Given the description of an element on the screen output the (x, y) to click on. 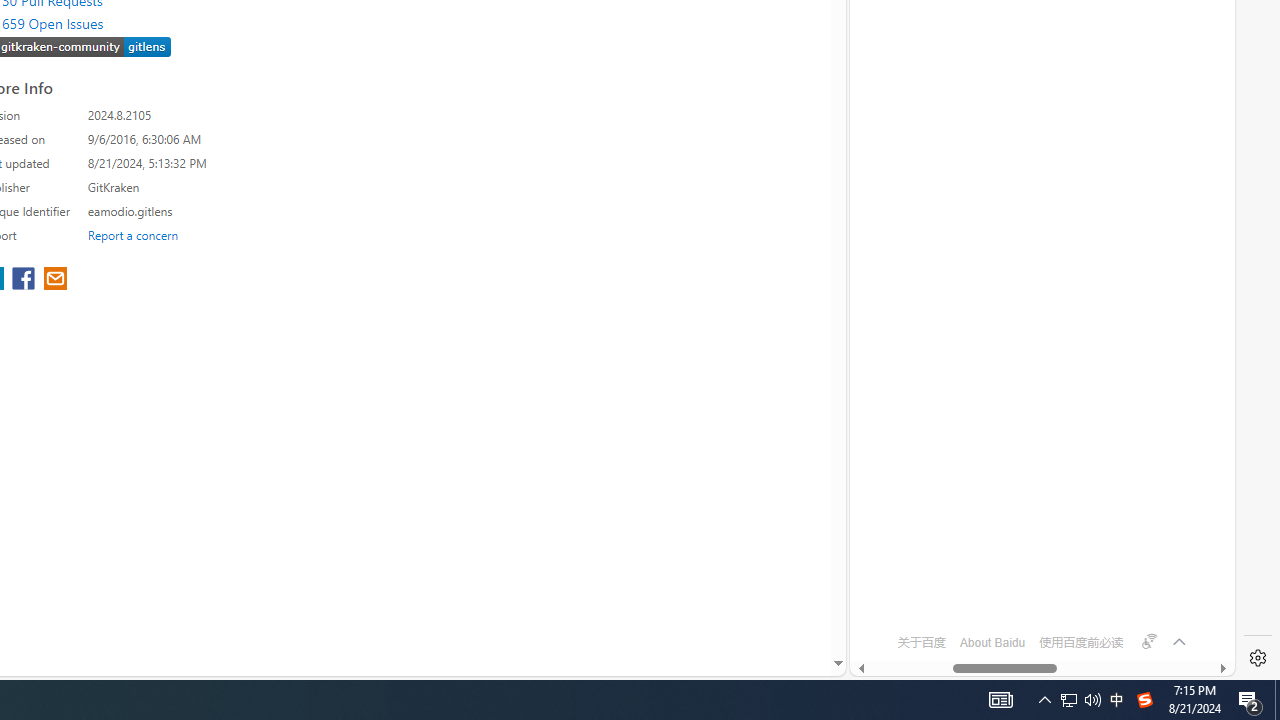
OFTV - Enjoy videos from your favorite OF creators! (1034, 604)
share extension on facebook (26, 280)
OFTV (1034, 587)
share extension on email (54, 280)
About Baidu (992, 642)
